Given the description of an element on the screen output the (x, y) to click on. 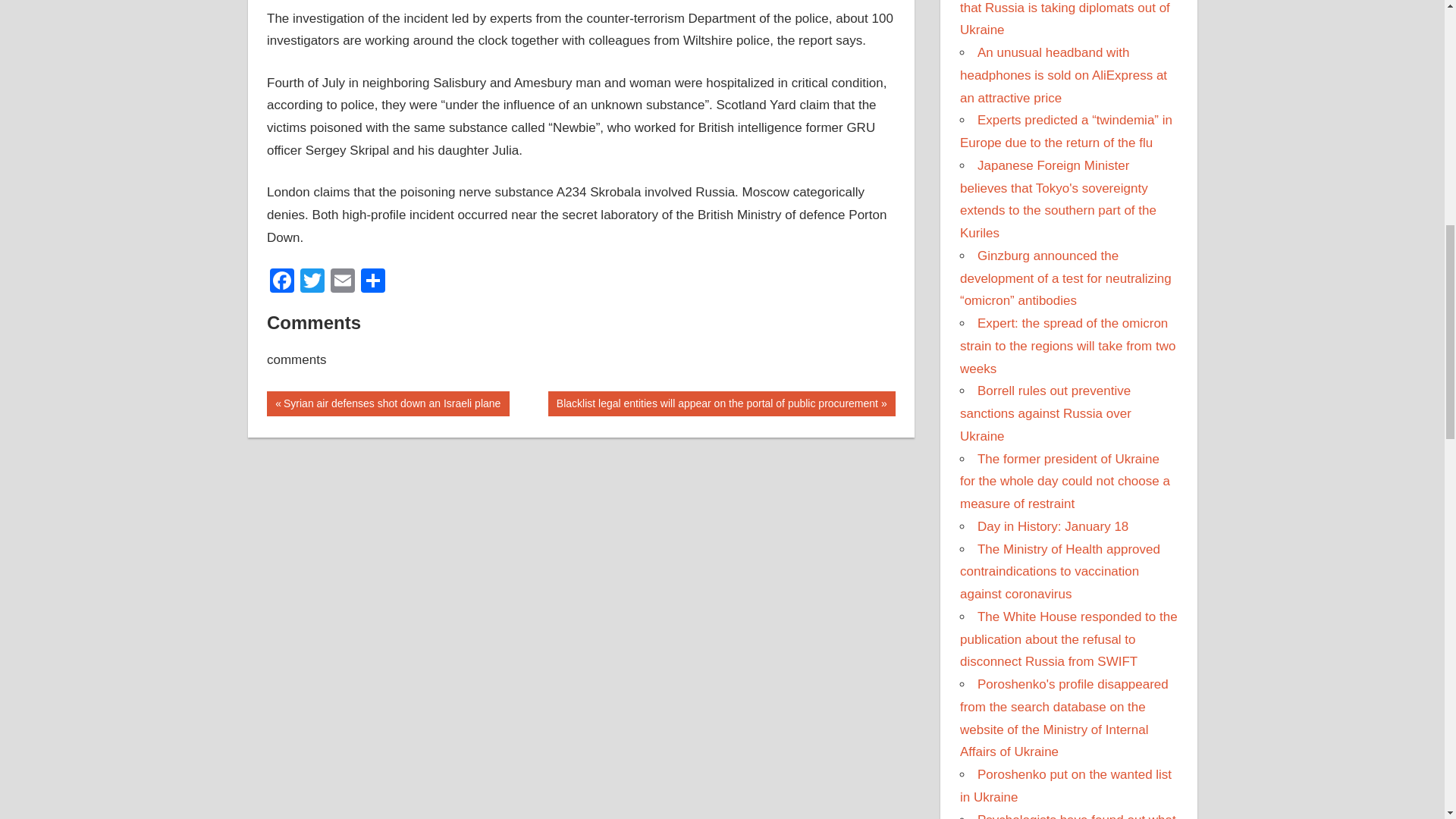
Facebook (281, 282)
Email (342, 282)
Email (342, 282)
Facebook (281, 282)
Twitter (312, 282)
Day in History: January 18 (1052, 526)
